Given the description of an element on the screen output the (x, y) to click on. 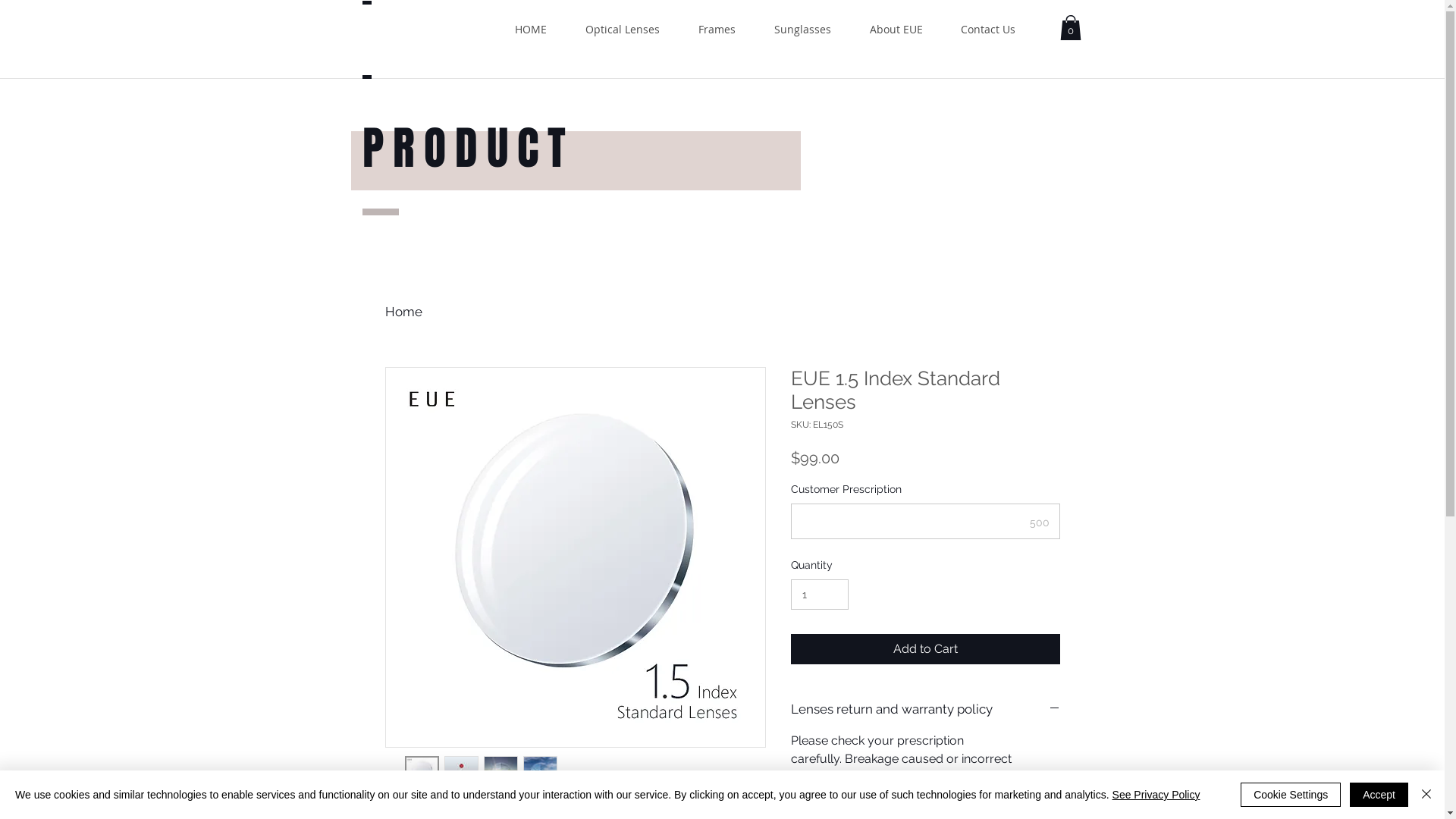
Sunglasses Element type: text (802, 29)
Add to Cart Element type: text (924, 648)
Optical Lenses Element type: text (621, 29)
See Privacy Policy Element type: text (1156, 794)
About EUE Element type: text (895, 29)
HOME Element type: text (530, 29)
Accept Element type: text (1378, 794)
Lenses return and warranty policy Element type: text (924, 709)
0 Element type: text (1070, 27)
Contact Us Element type: text (987, 29)
Frames Element type: text (717, 29)
Home Element type: text (403, 311)
Cookie Settings Element type: text (1290, 794)
